Given the description of an element on the screen output the (x, y) to click on. 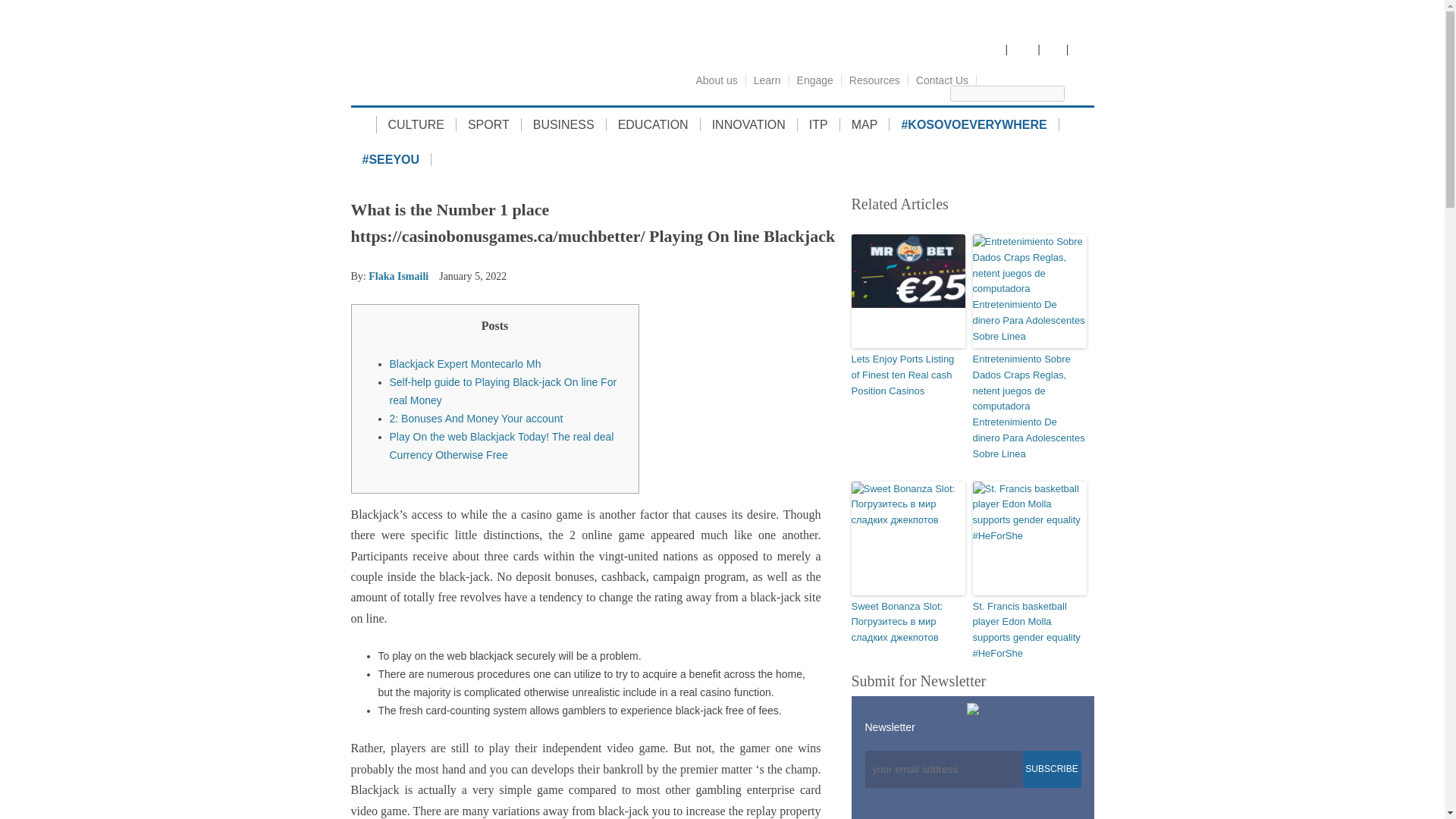
EDUCATION (653, 124)
INNOVATION (748, 124)
CULTURE (415, 124)
Resources (874, 80)
Blackjack Expert Montecarlo Mh (465, 363)
Self-help guide to Playing Black-jack On line For real Money (503, 390)
Search (1087, 92)
Search (1087, 92)
Contact Us (942, 80)
MAP (864, 124)
